Given the description of an element on the screen output the (x, y) to click on. 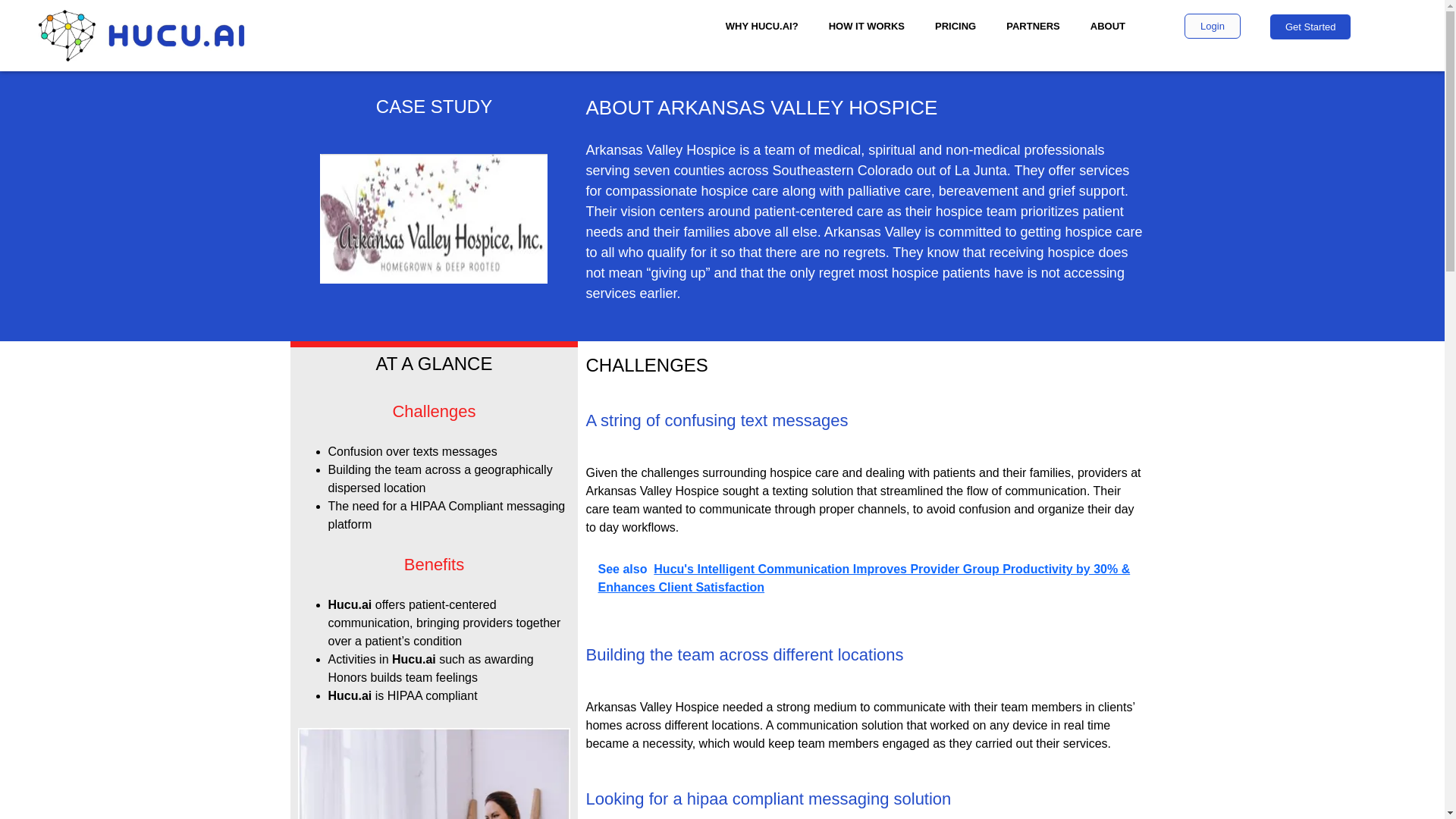
PARTNERS (1033, 26)
PRICING (955, 26)
HOW IT WORKS (866, 26)
ABOUT (1107, 26)
WHY HUCU.AI? (761, 26)
